Given the description of an element on the screen output the (x, y) to click on. 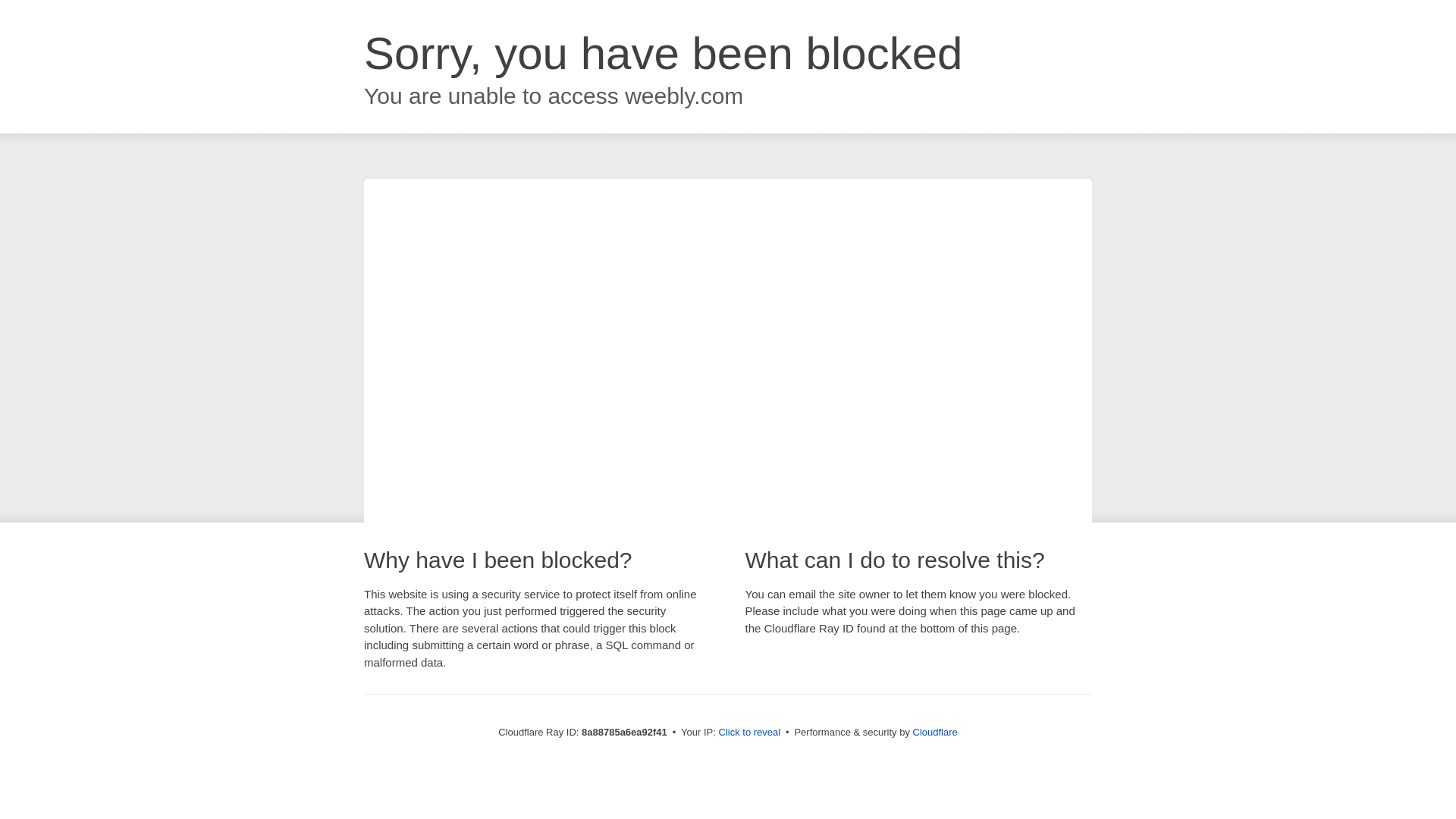
Cloudflare (935, 731)
Click to reveal (749, 732)
